Given the description of an element on the screen output the (x, y) to click on. 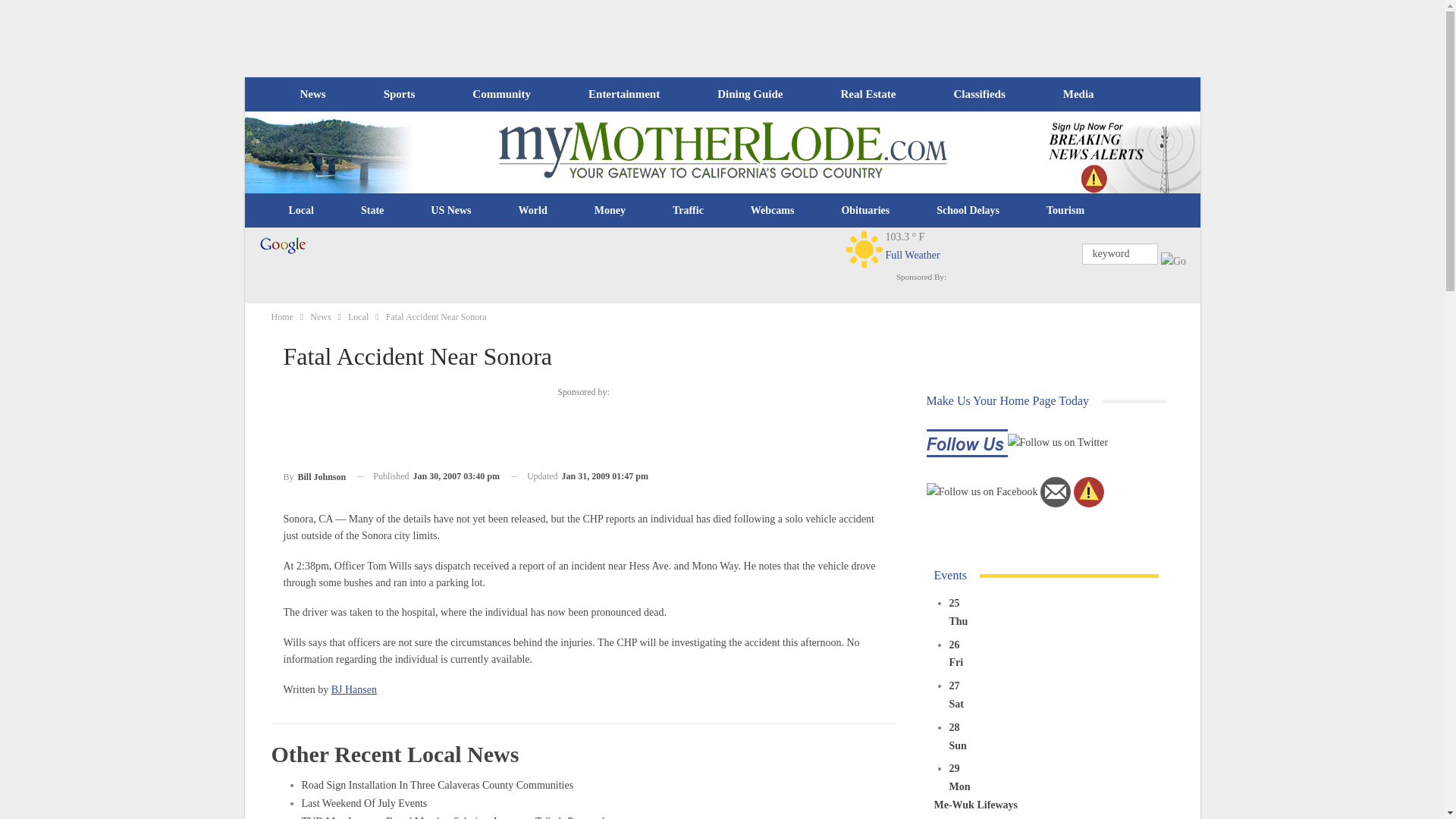
Obituaries (865, 210)
Real Estate (868, 93)
Entertainment (624, 93)
US News (451, 210)
Webcams (772, 210)
Browse Author Articles (314, 476)
Media (1078, 93)
Classifieds (979, 93)
News (312, 93)
Traffic (687, 210)
Tourism (1065, 210)
Clear (864, 249)
